Given the description of an element on the screen output the (x, y) to click on. 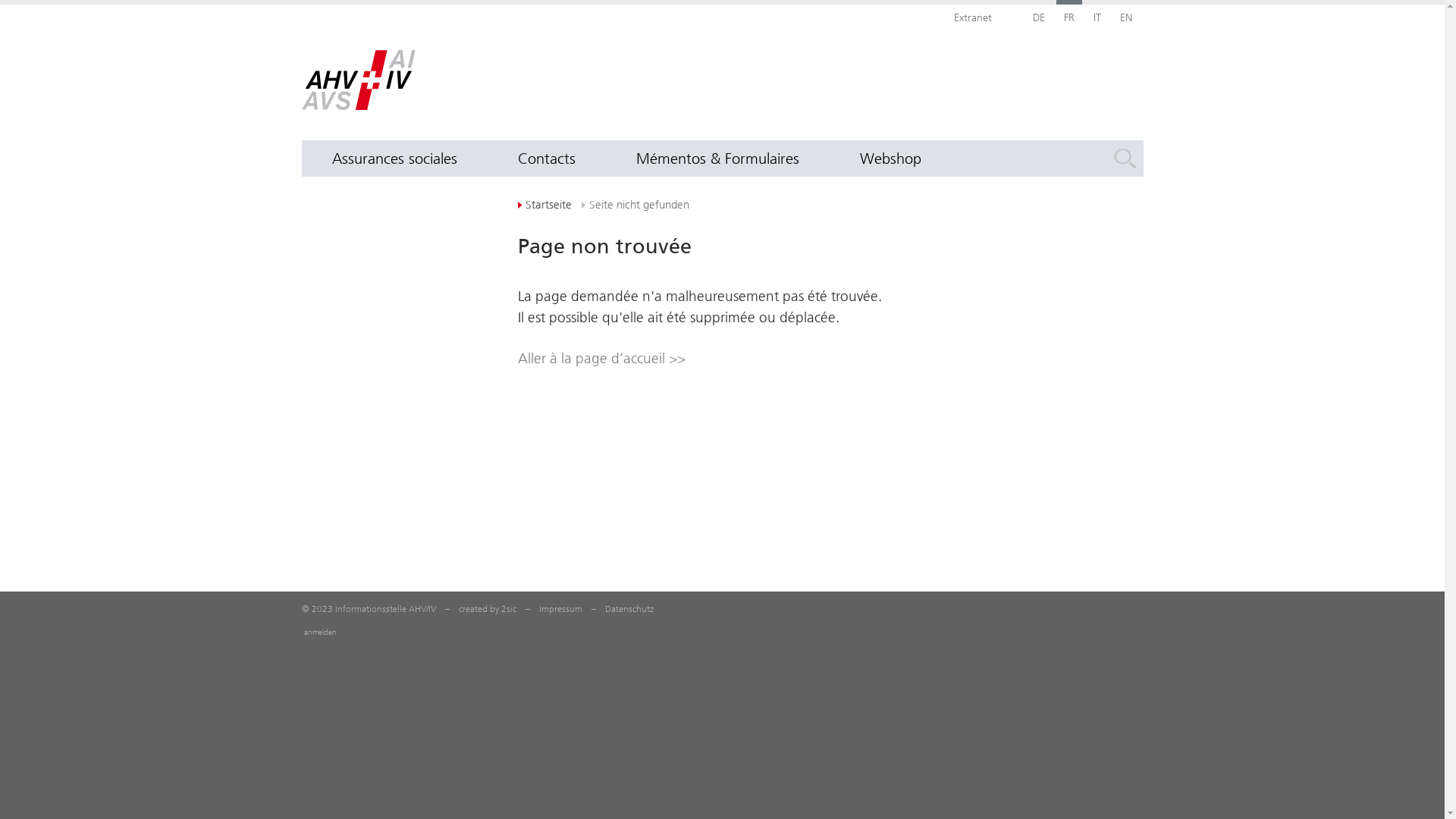
2sic Element type: text (507, 608)
Startseite Element type: text (544, 204)
Assurances sociales Element type: text (394, 158)
Contacts Element type: text (545, 158)
DE Element type: text (1038, 16)
[ALT] + 0: Zur Startseite Element type: text (0, 0)
IT Element type: text (1096, 16)
Impressum Element type: text (559, 608)
Datenschutz Element type: text (629, 608)
Informationsstelle AHV/IV Element type: hover (358, 79)
anmelden Element type: text (319, 632)
EN Element type: text (1125, 16)
Seite nicht gefunden Element type: text (634, 204)
Webshop Element type: text (890, 158)
Extranet Element type: text (972, 16)
FR Element type: text (1068, 16)
